Given the description of an element on the screen output the (x, y) to click on. 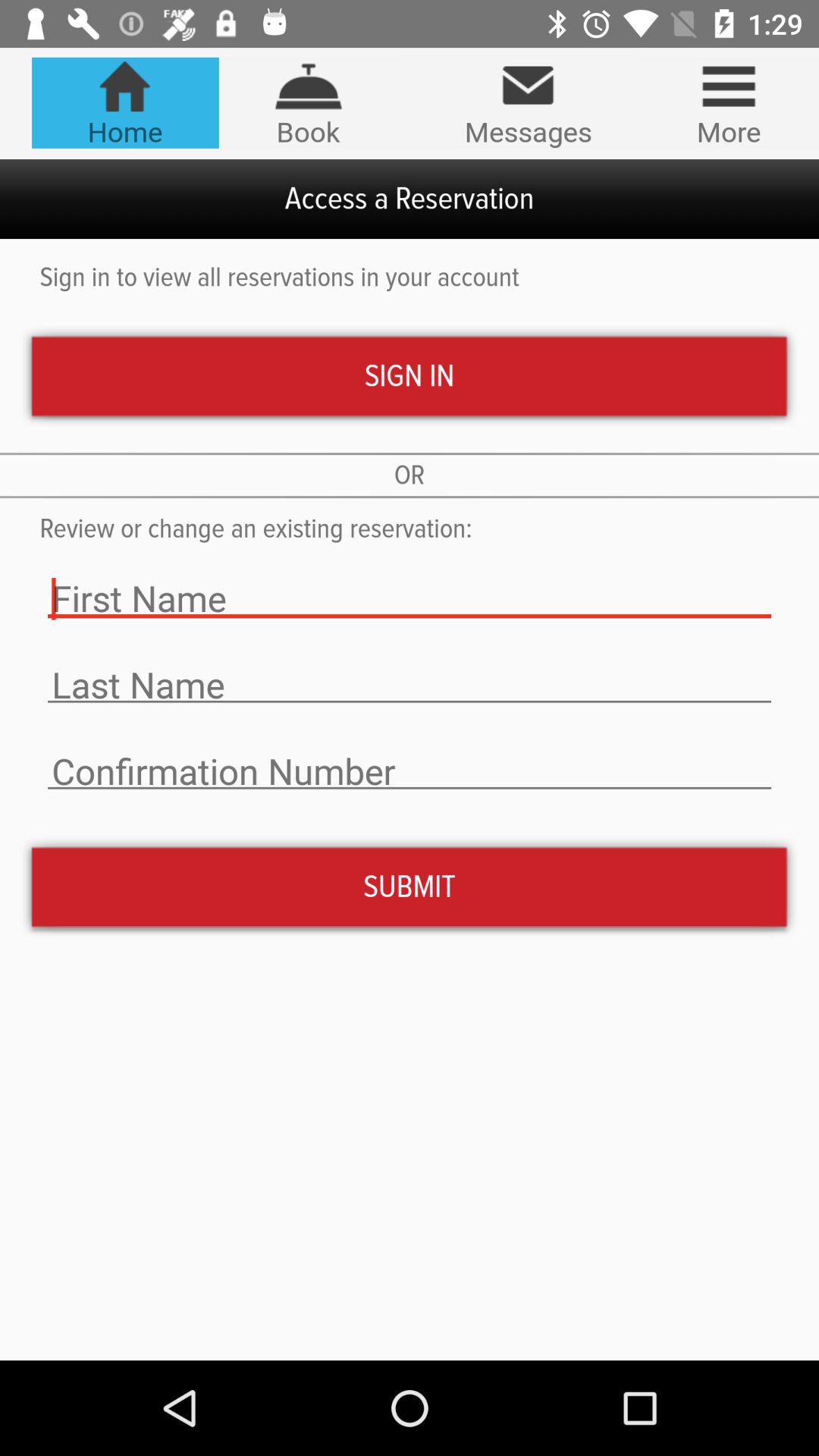
add last name (409, 685)
